Given the description of an element on the screen output the (x, y) to click on. 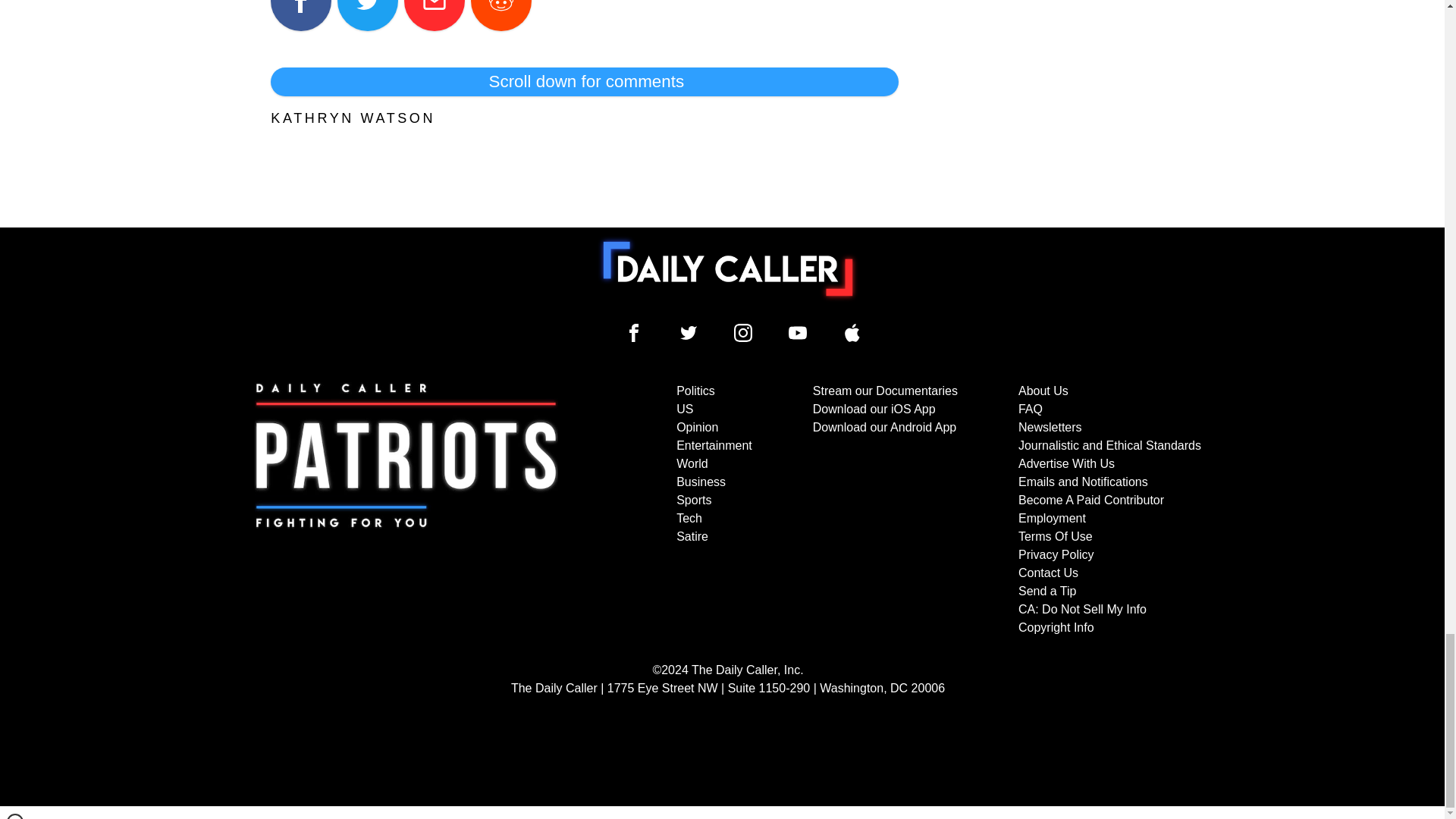
Scroll down for comments (584, 81)
Daily Caller YouTube (797, 332)
To home page (727, 268)
Daily Caller Instagram (742, 332)
Daily Caller YouTube (852, 332)
Daily Caller Twitter (688, 332)
Daily Caller Facebook (633, 332)
Subscribe to The Daily Caller (405, 509)
